Given the description of an element on the screen output the (x, y) to click on. 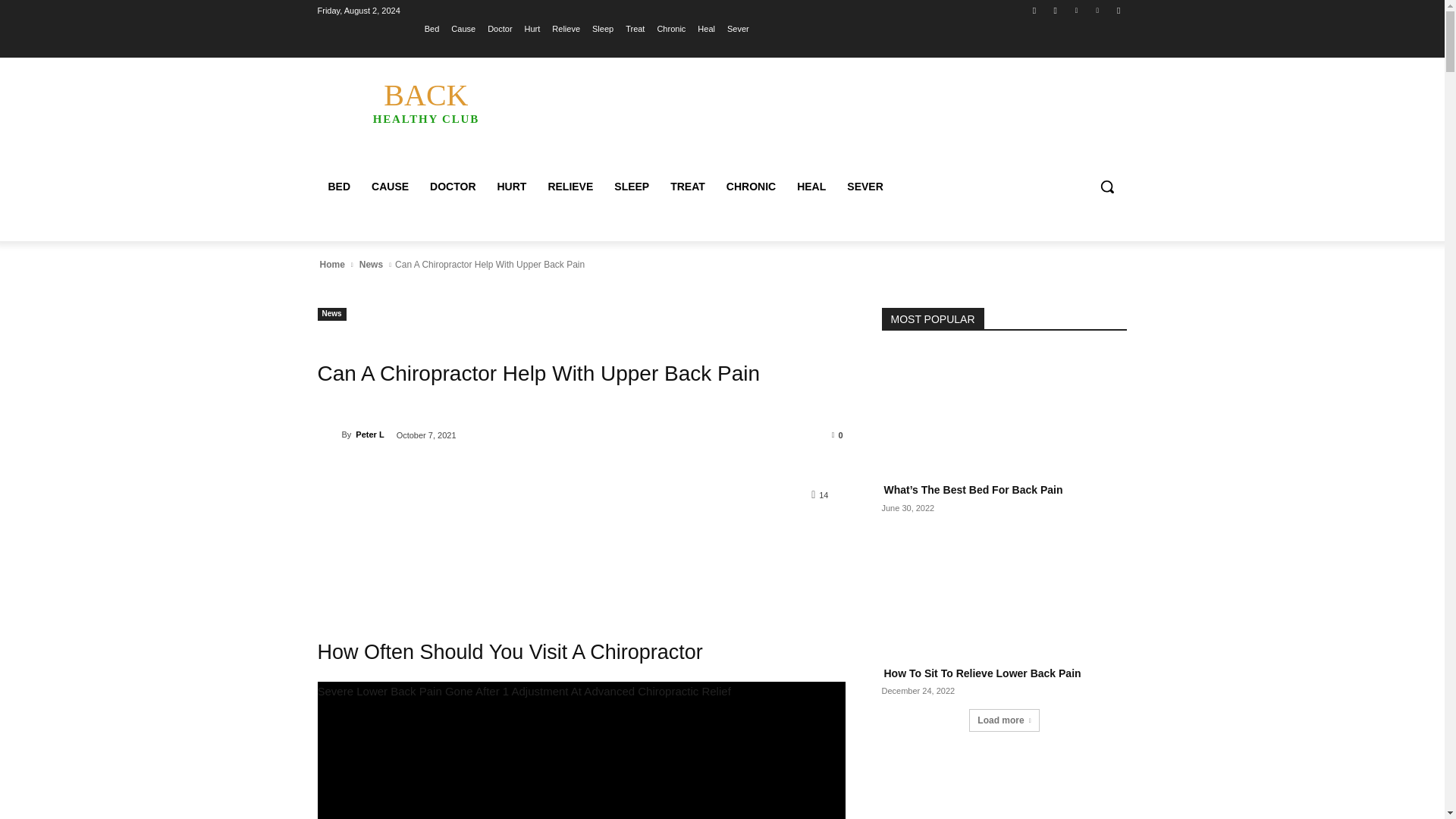
Youtube (1117, 9)
Sleep (602, 28)
Doctor (499, 28)
Vimeo (425, 101)
CAUSE (1097, 9)
Treat (390, 186)
HURT (635, 28)
BED (511, 186)
Relieve (339, 186)
Sever (565, 28)
Twitter (737, 28)
Facebook (1075, 9)
View all posts in News (1034, 9)
Cause (370, 264)
